Given the description of an element on the screen output the (x, y) to click on. 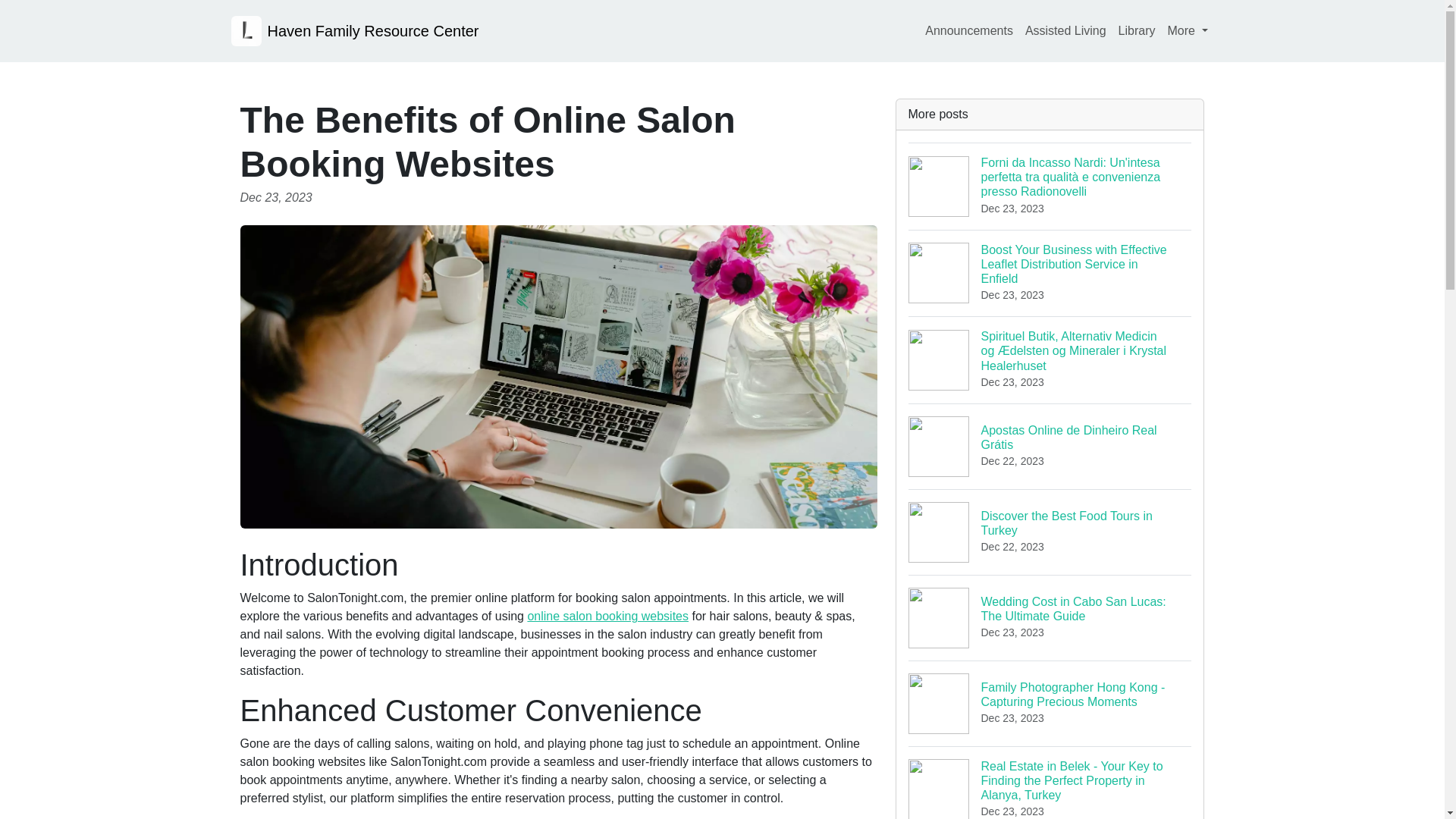
online salon booking websites (607, 615)
More (1187, 30)
Announcements (968, 30)
Haven Family Resource Center (354, 30)
Assisted Living (1065, 30)
Library (1136, 30)
